Given the description of an element on the screen output the (x, y) to click on. 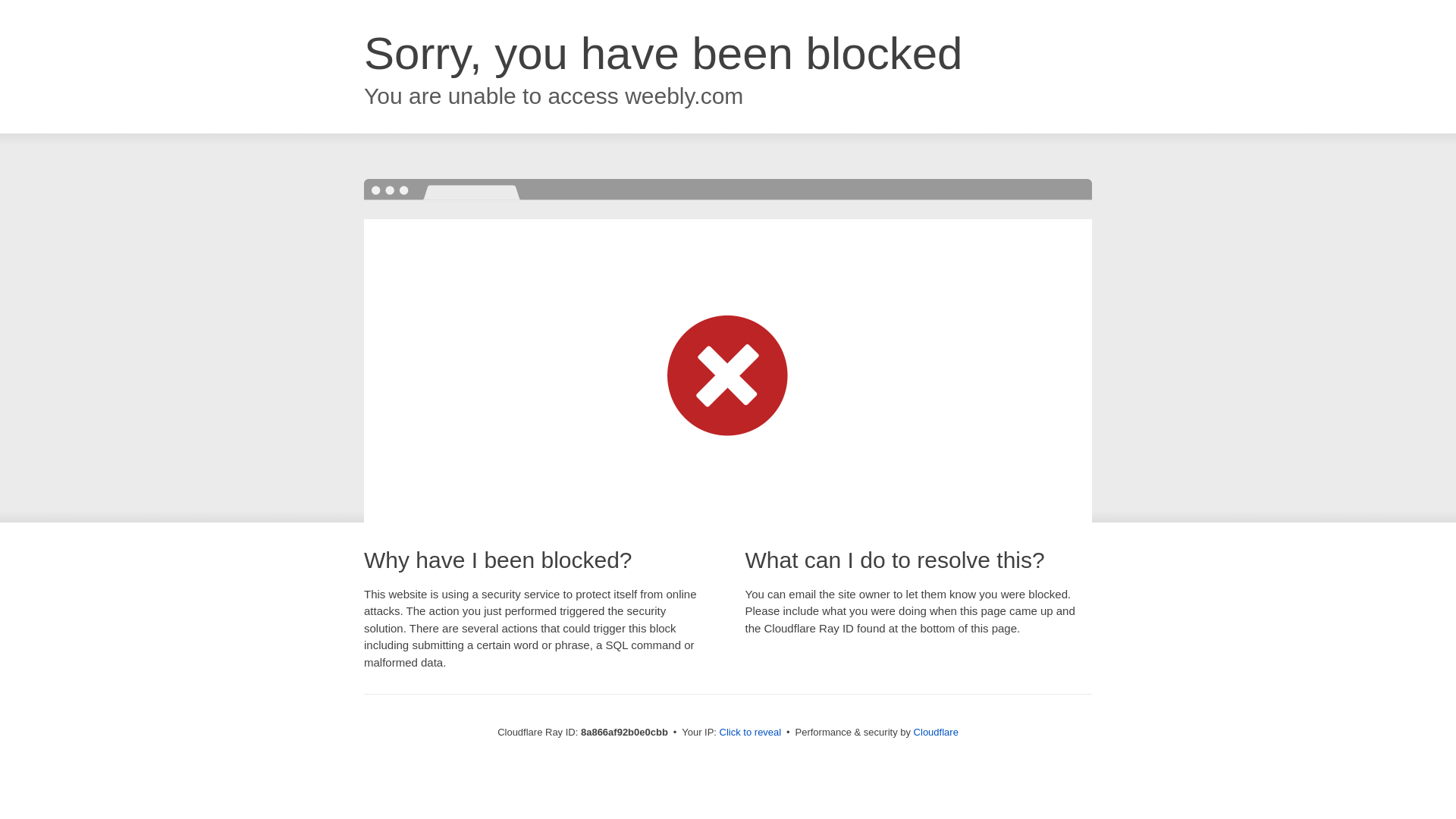
Cloudflare (936, 731)
Click to reveal (750, 732)
